Given the description of an element on the screen output the (x, y) to click on. 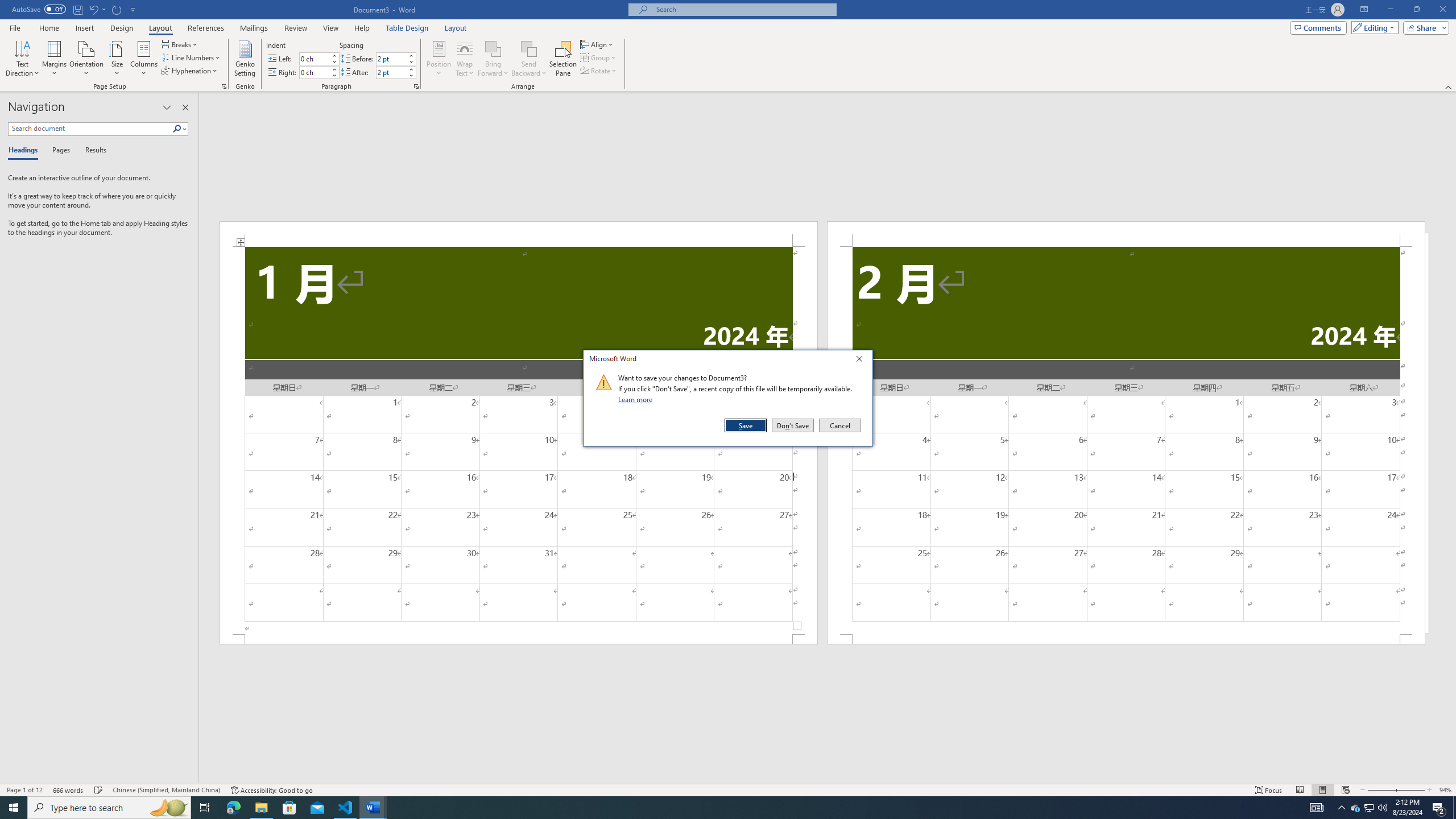
Orientation (86, 58)
Microsoft Edge (233, 807)
Columns (143, 58)
Text Direction (22, 58)
